Given the description of an element on the screen output the (x, y) to click on. 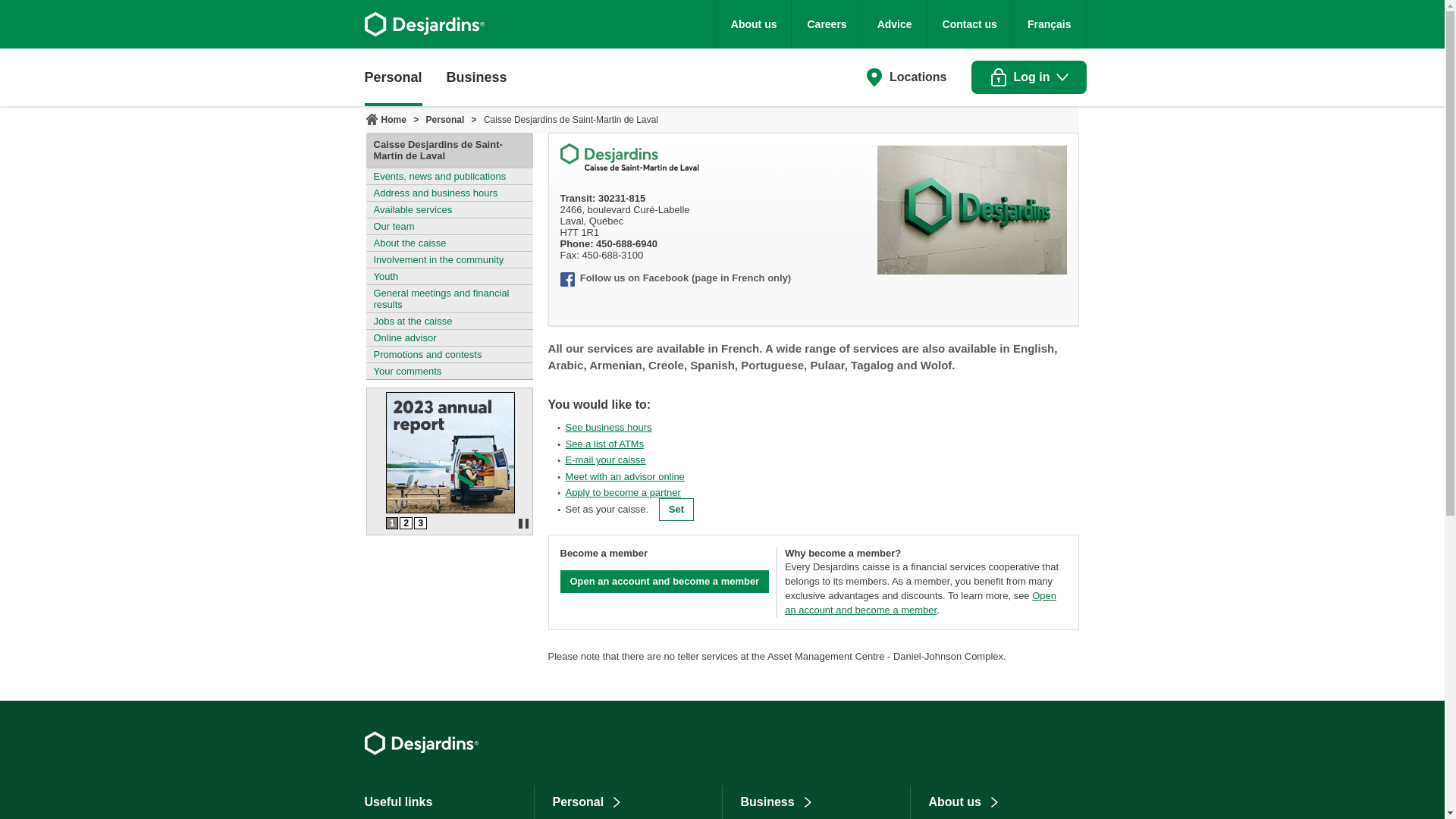
Week end phone service at the Caisse (419, 522)
Meet with an advisor online (624, 476)
Pause promotion slide show (521, 523)
Contact us (969, 24)
Careers (826, 24)
Set (676, 508)
Contact your caisse - New window (604, 460)
Advice (894, 24)
2023 annual report (391, 522)
2023 annual report (449, 510)
